Given the description of an element on the screen output the (x, y) to click on. 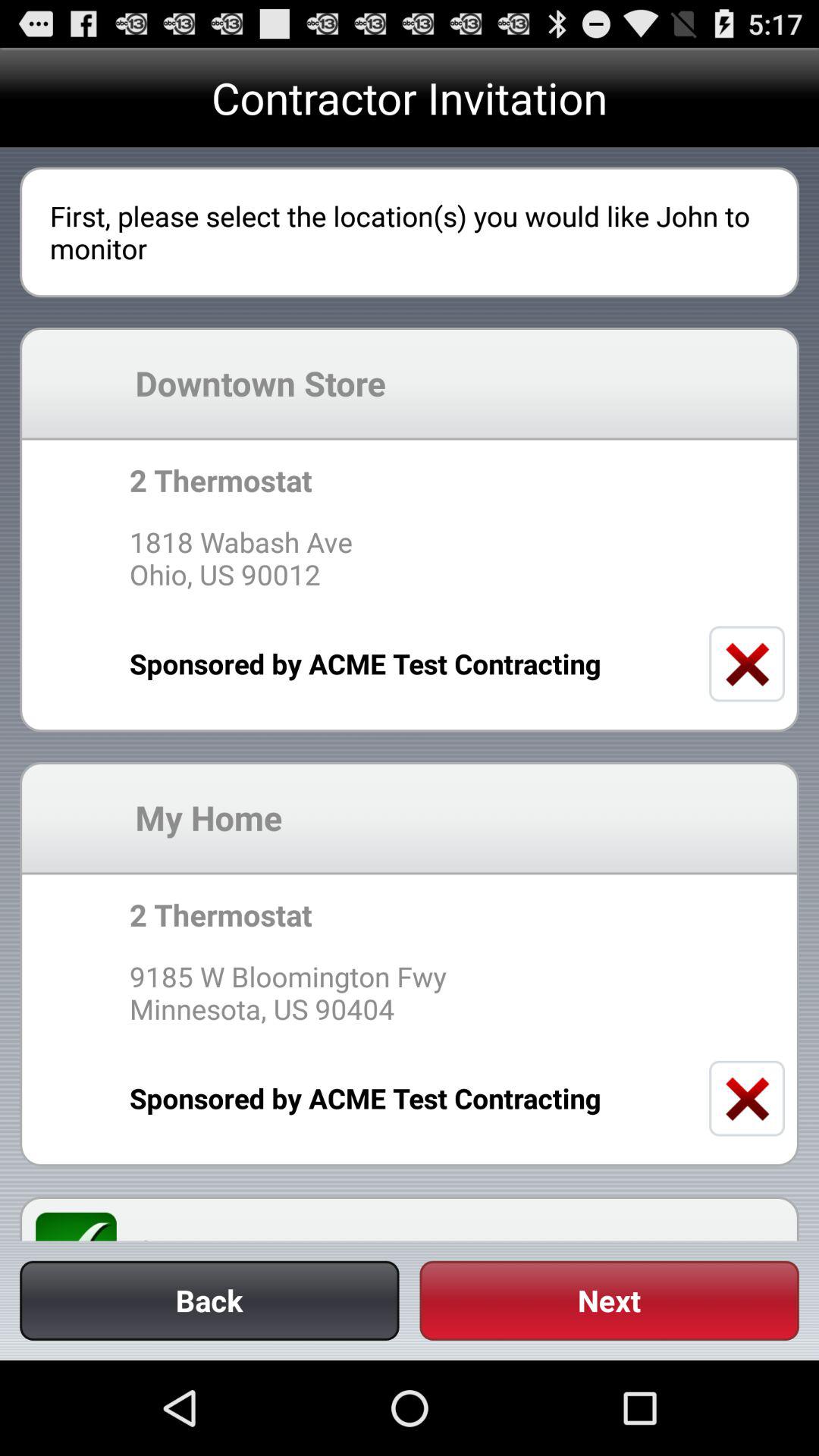
turn on back (209, 1300)
